Given the description of an element on the screen output the (x, y) to click on. 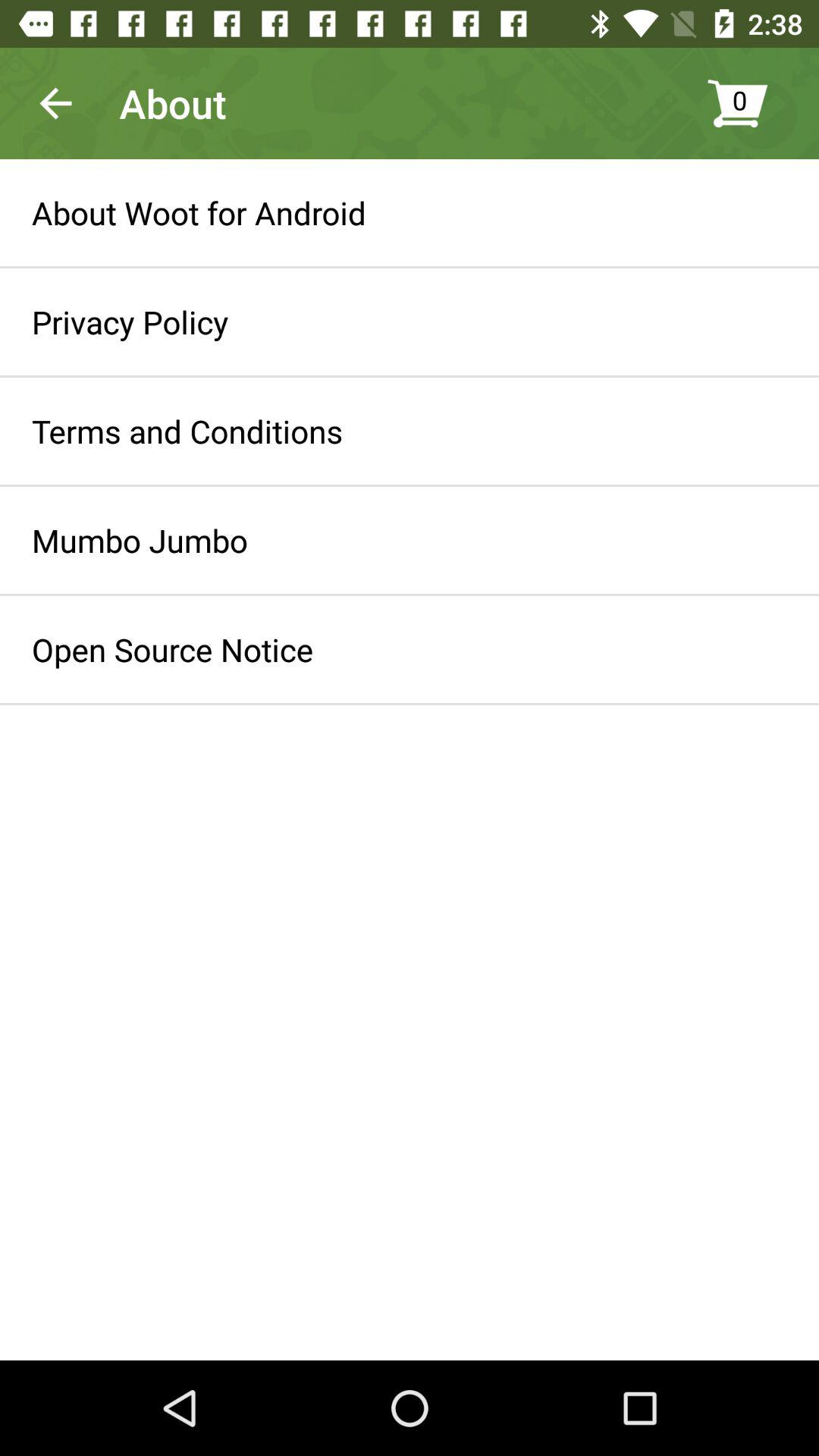
select the open source notice icon (172, 649)
